Given the description of an element on the screen output the (x, y) to click on. 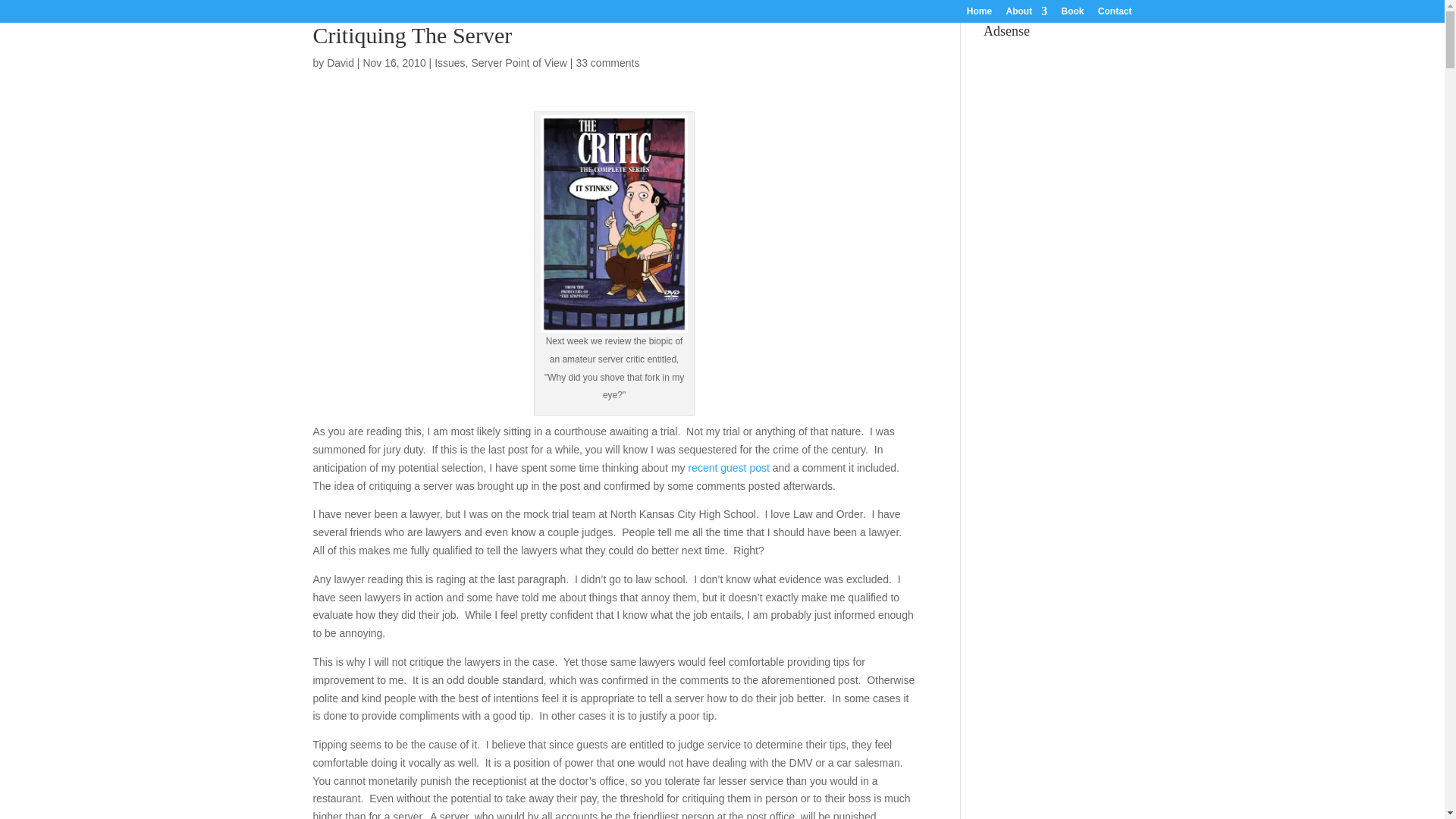
Posts by David (339, 62)
Home (978, 14)
Book (1072, 14)
Contact (1114, 14)
About (1026, 14)
